Given the description of an element on the screen output the (x, y) to click on. 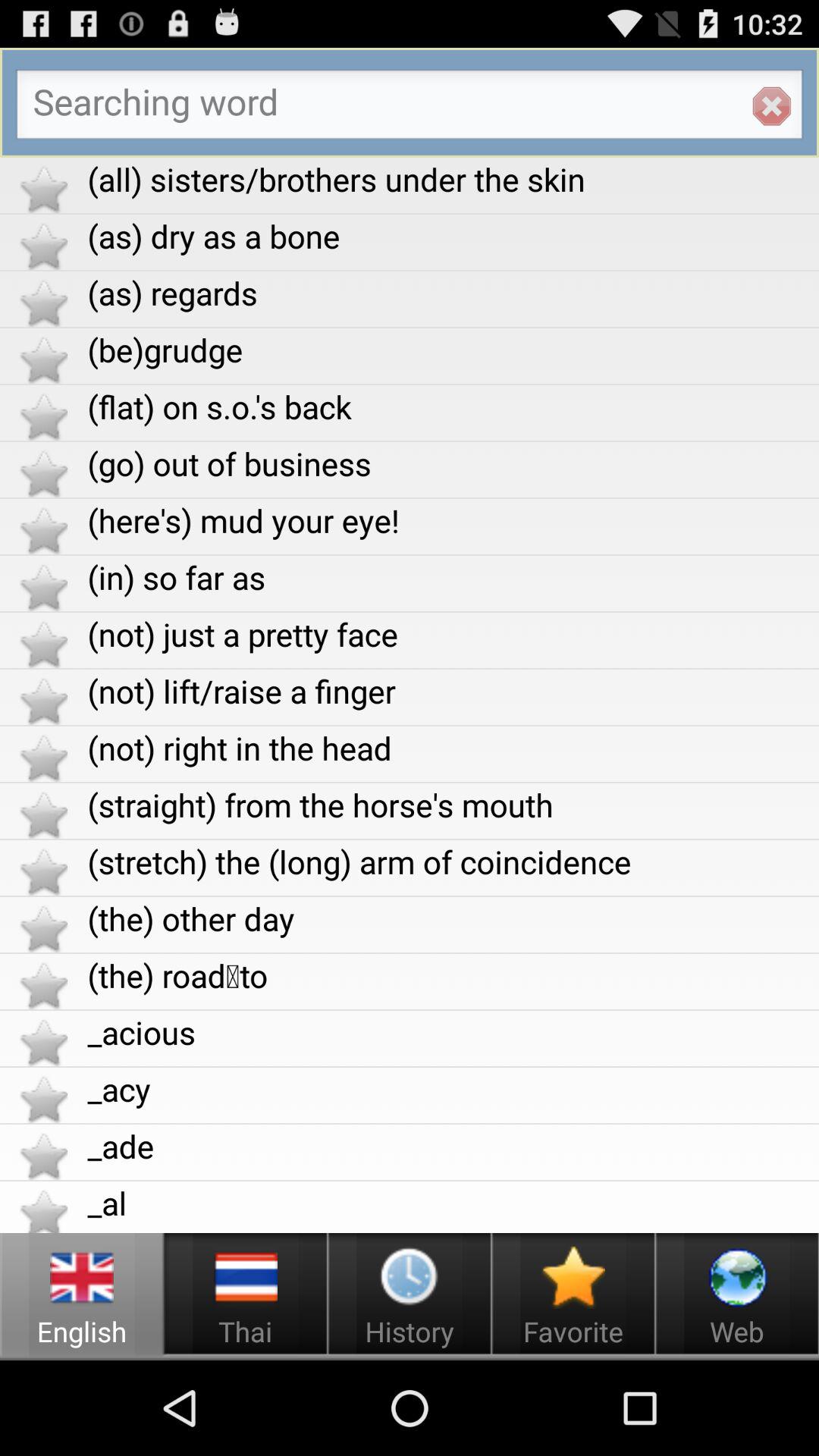
launch icon at the top right corner (771, 106)
